Given the description of an element on the screen output the (x, y) to click on. 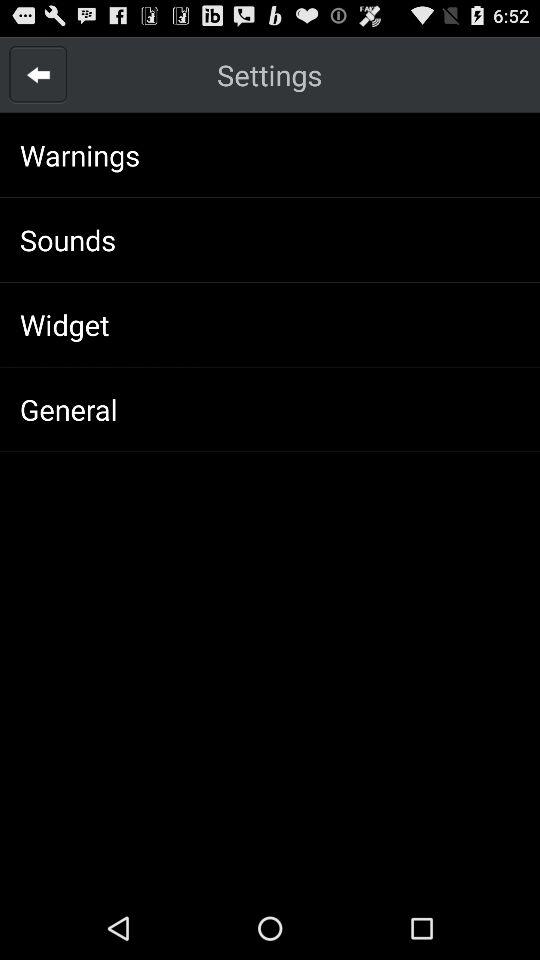
go to previous screen (38, 74)
